Given the description of an element on the screen output the (x, y) to click on. 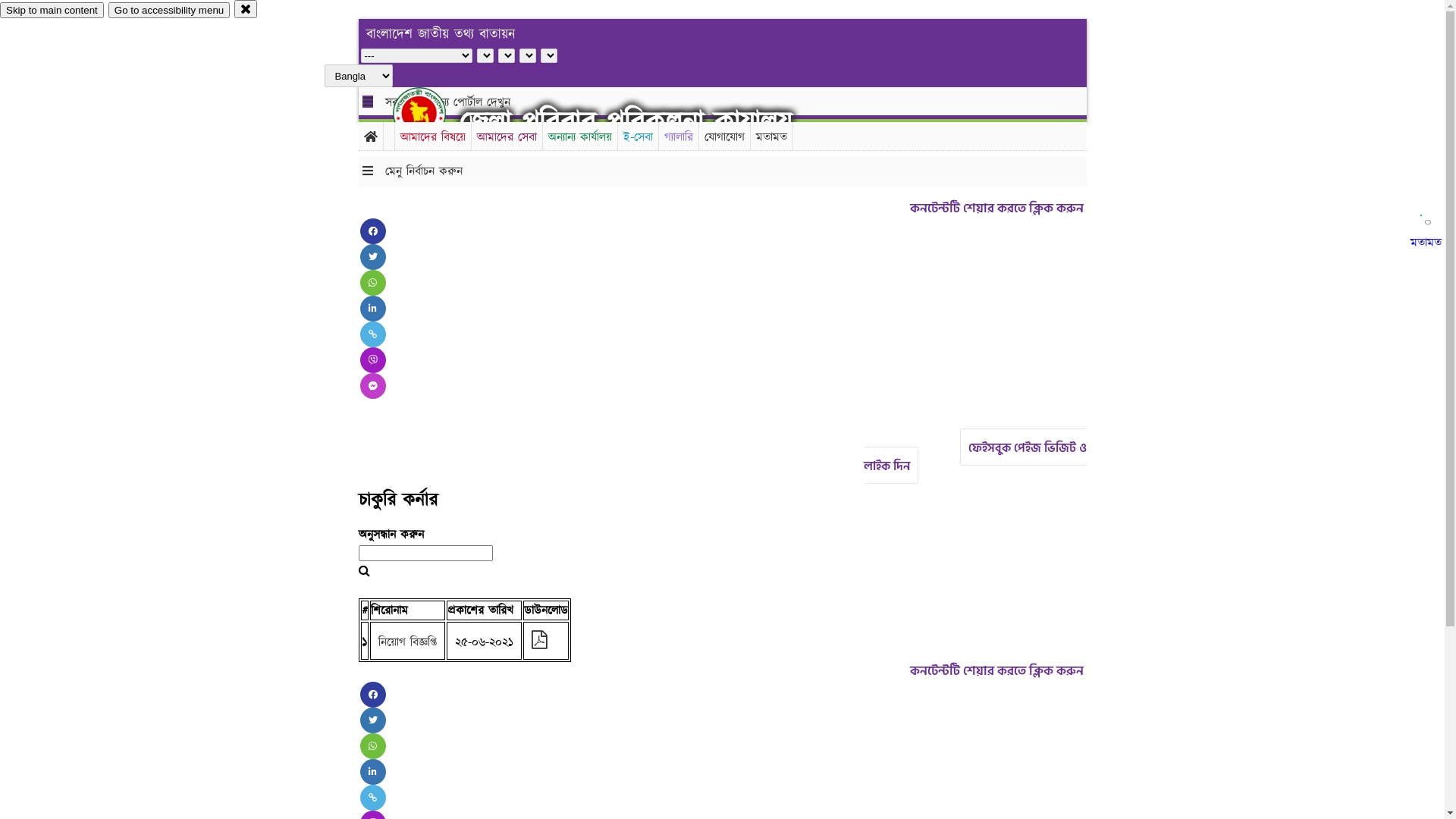
Go to accessibility menu Element type: text (168, 10)
Skip to main content Element type: text (51, 10)
close Element type: hover (245, 9)
f8c16eeec9dc67b84e4d54410b6c7246.pdf Element type: hover (538, 641)

                
             Element type: hover (431, 112)
